Given the description of an element on the screen output the (x, y) to click on. 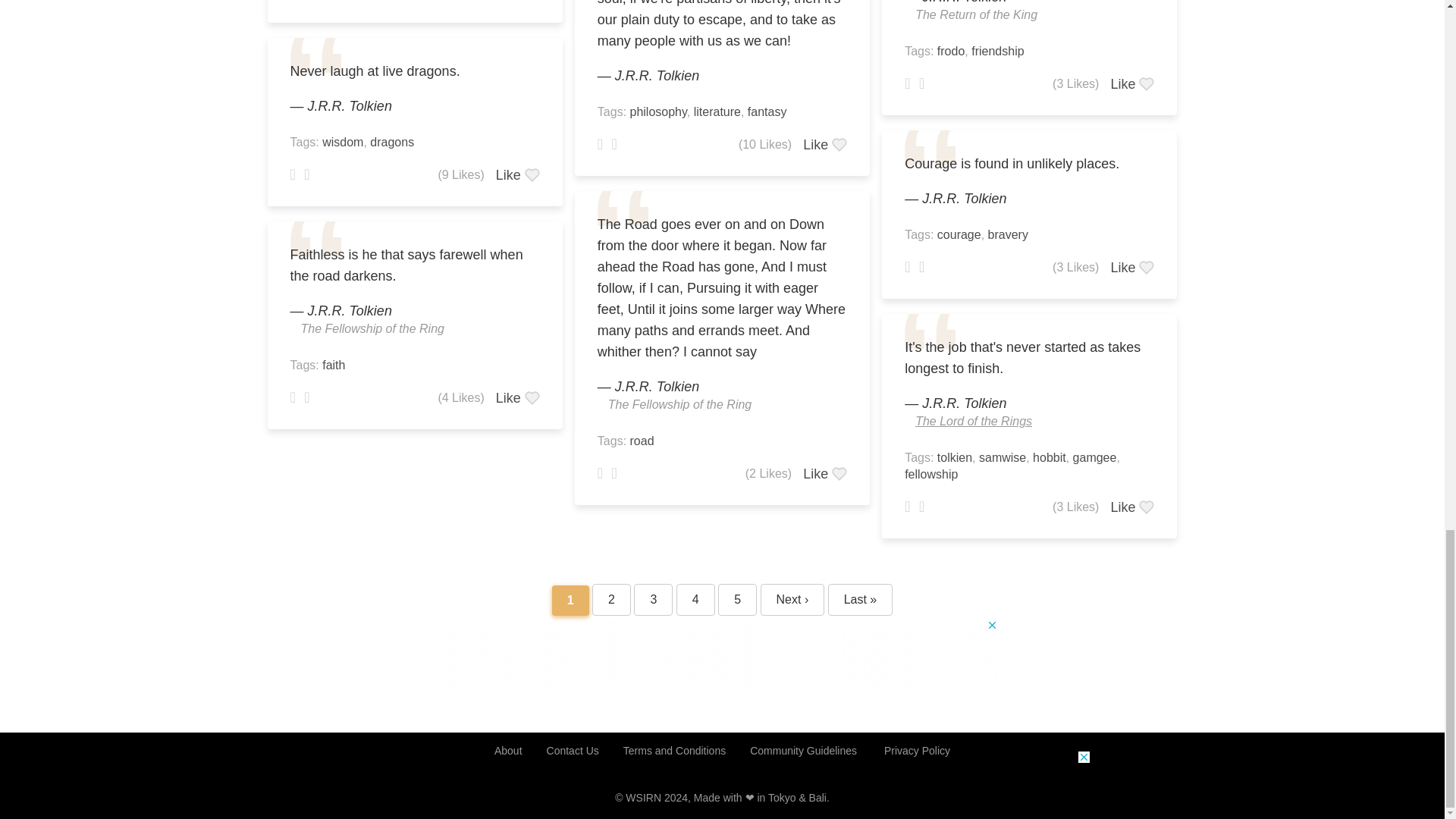
3rd party ad content (721, 653)
